Given the description of an element on the screen output the (x, y) to click on. 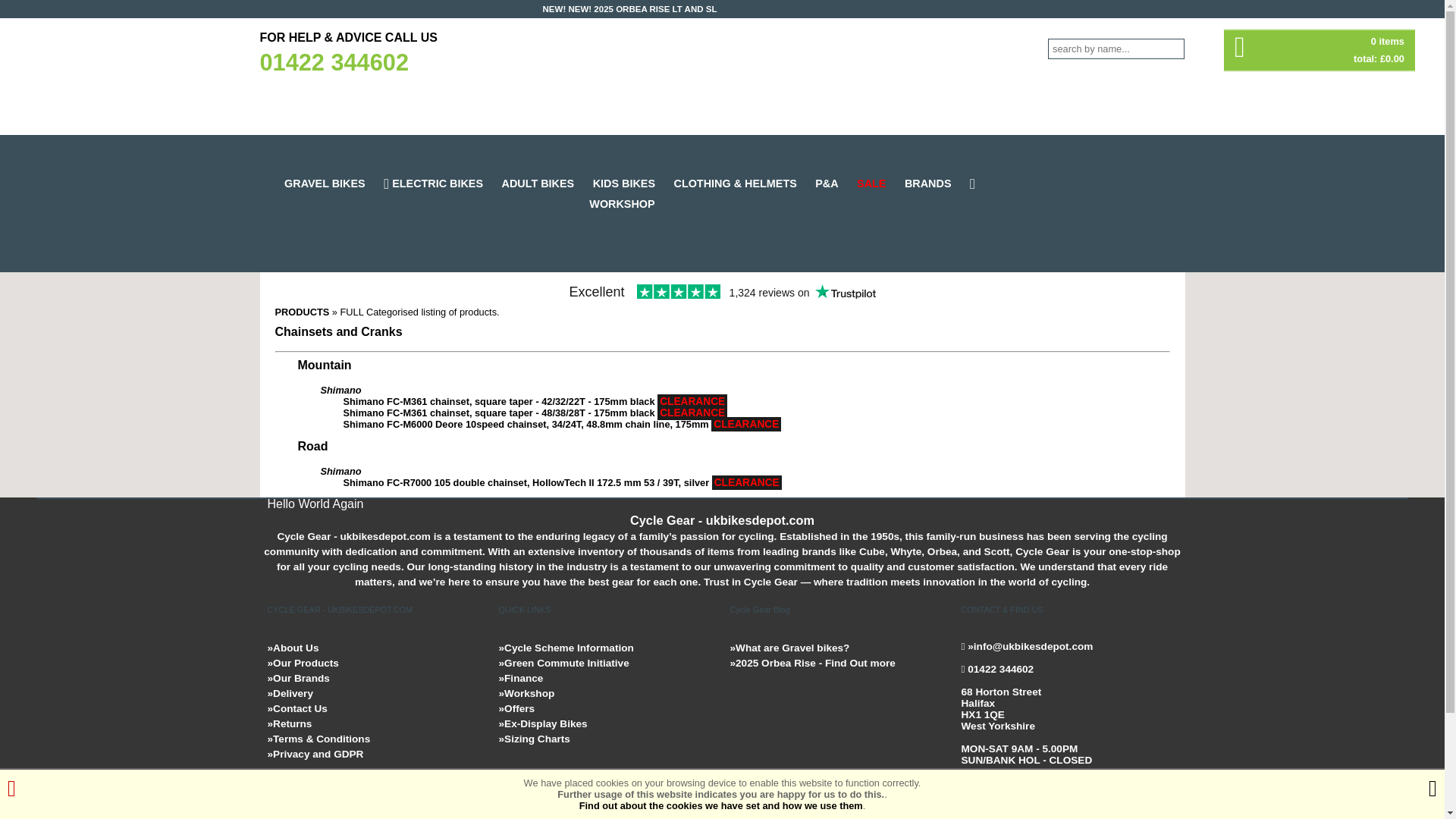
BRANDS (935, 183)
Find out about the cookies we have set and how we use them (721, 805)
GRAVEL BIKES (331, 183)
NEW! NEW! 2025 ORBEA RISE LT AND SL (630, 8)
SALE (879, 183)
01422 344602 (333, 62)
Checkout (1319, 49)
Our Brands (297, 677)
Road (312, 445)
Cycle Gear, Your local bike shop, online (721, 78)
ADULT BIKES (545, 183)
Chainsets and Cranks (338, 331)
Our Products (301, 663)
PRODUCTS (302, 311)
KIDS BIKES (630, 183)
